Given the description of an element on the screen output the (x, y) to click on. 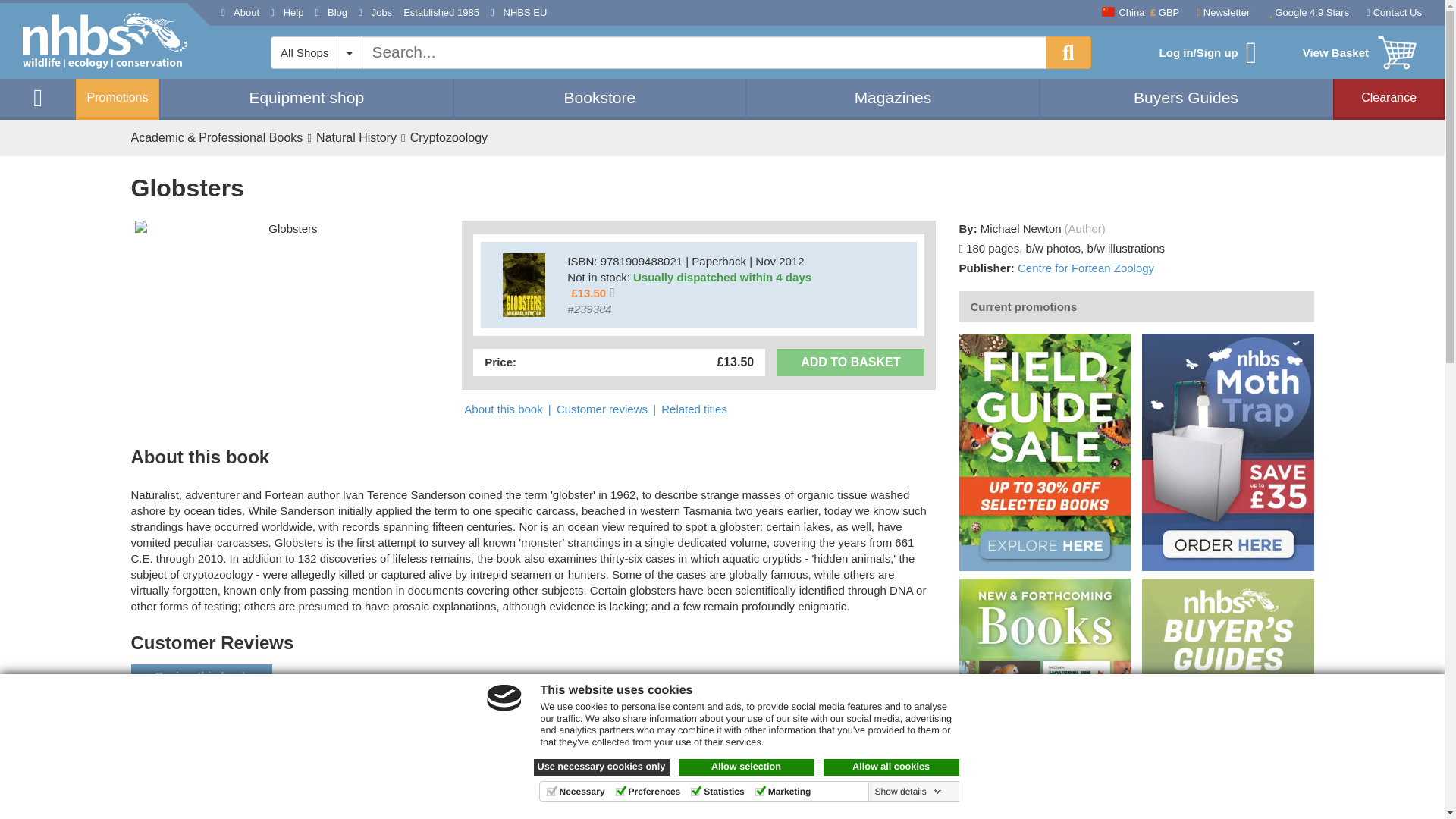
Allow all cookies (891, 767)
Use necessary cookies only (601, 767)
Allow selection (745, 767)
Show details (908, 791)
